Given the description of an element on the screen output the (x, y) to click on. 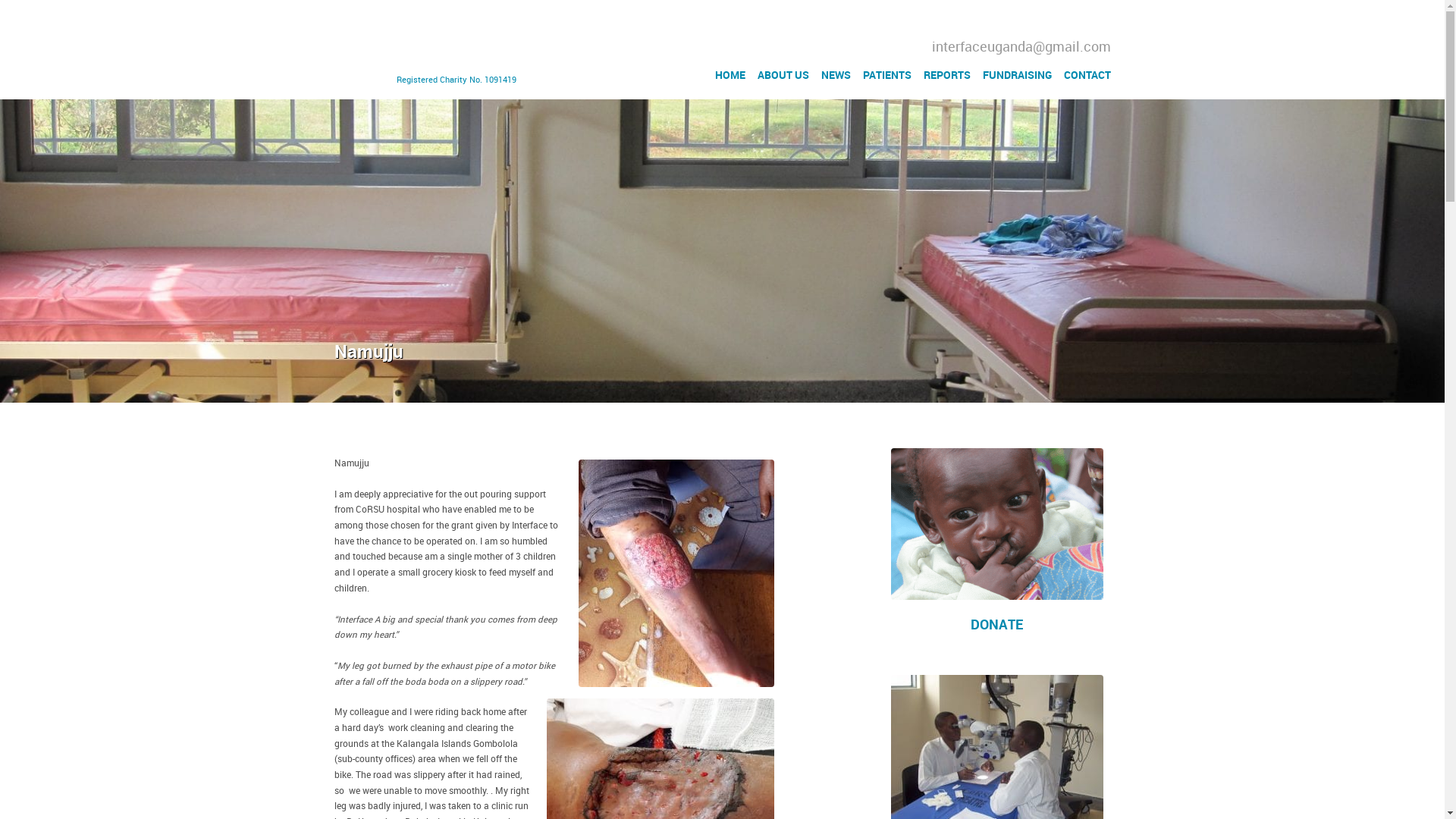
FUNDRAISING (1016, 74)
CONTACT (1085, 74)
REPORTS (947, 74)
ABOUT US (782, 74)
Registered Charity No. 1091419 (427, 49)
HOME (729, 74)
PATIENTS (887, 74)
DONATE (997, 624)
NEWS (835, 74)
